Given the description of an element on the screen output the (x, y) to click on. 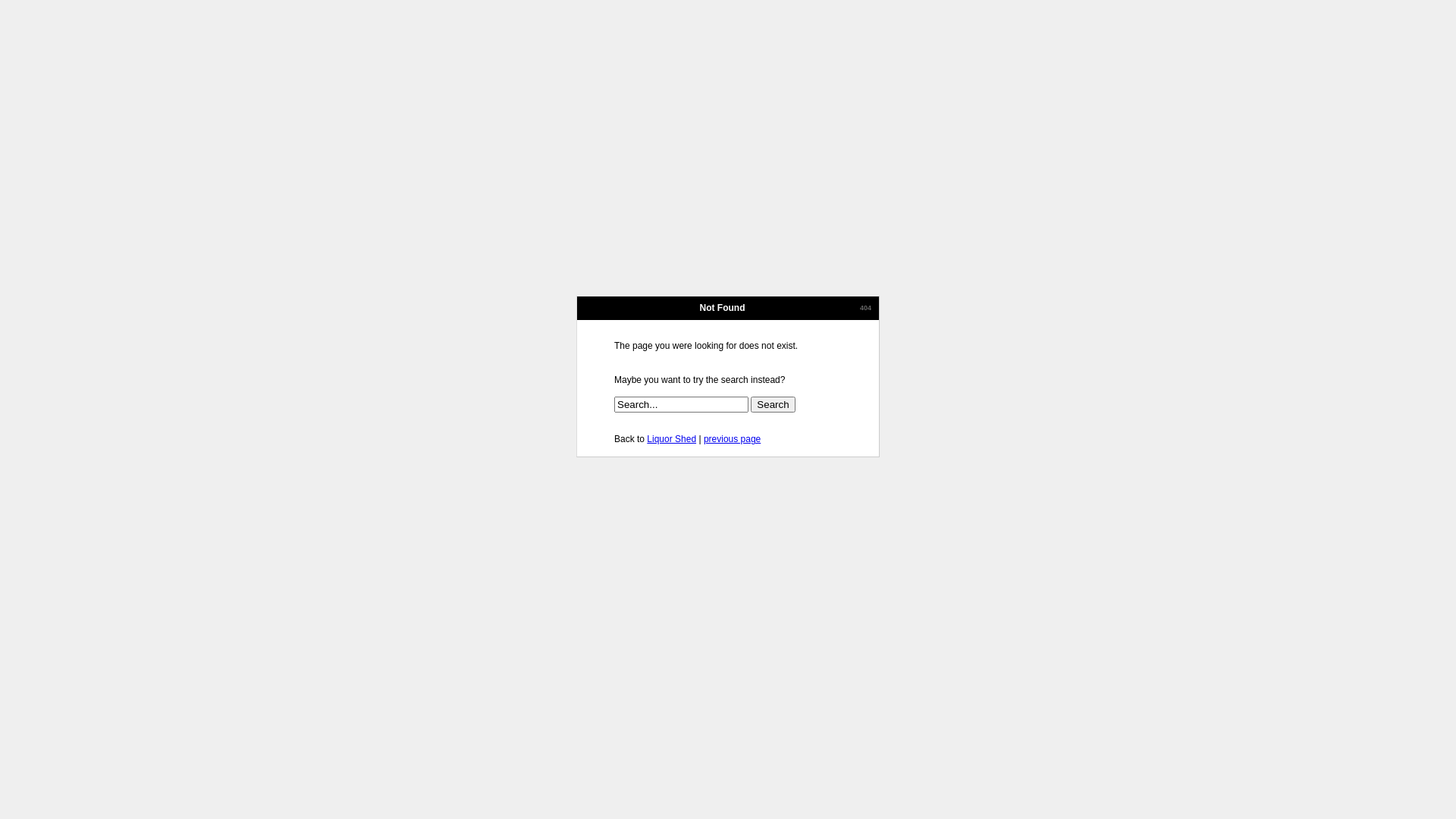
Search Element type: text (772, 404)
Liquor Shed Element type: text (671, 438)
previous page Element type: text (731, 438)
